Given the description of an element on the screen output the (x, y) to click on. 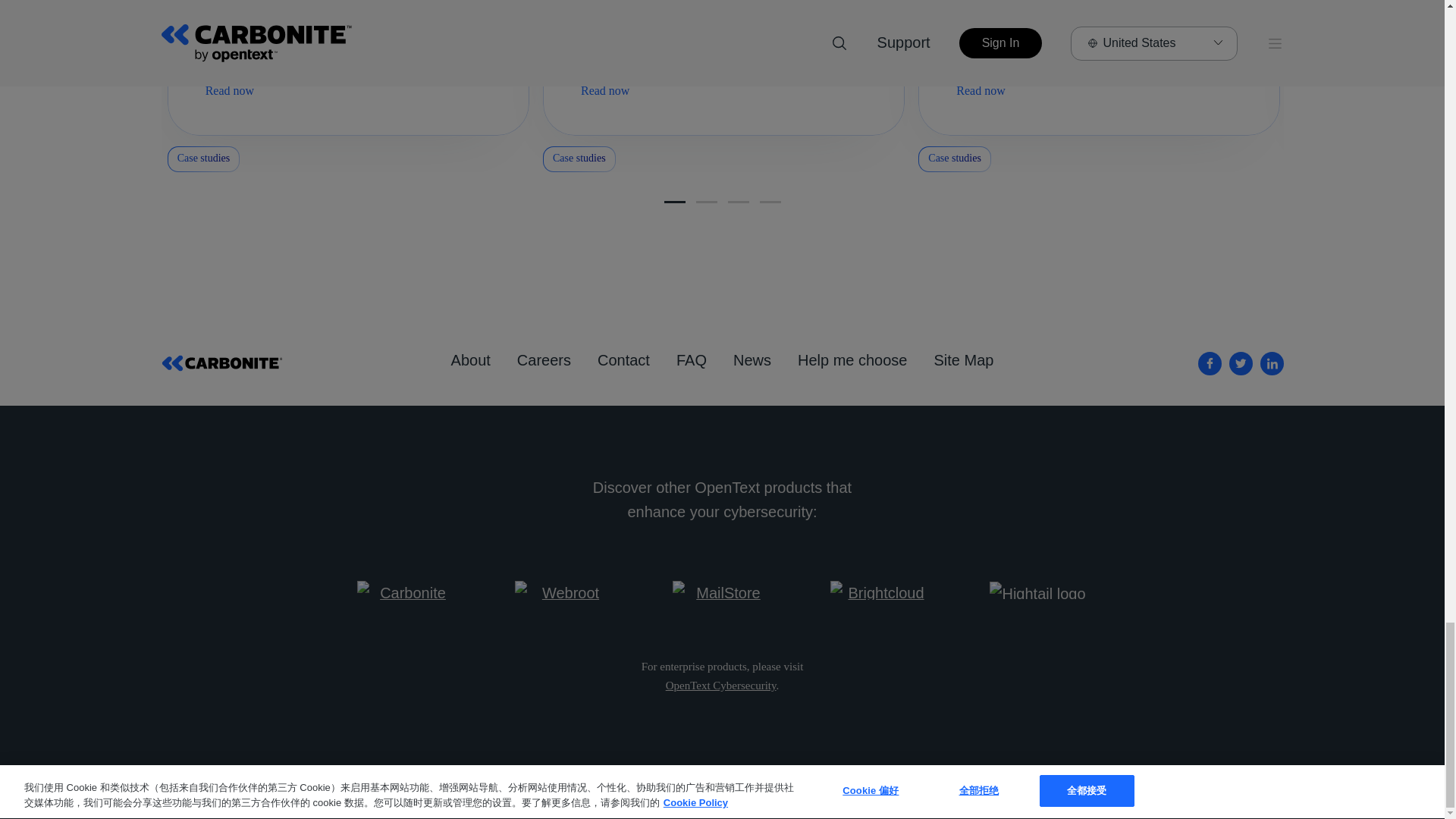
Facebook (1209, 363)
OpenText (720, 685)
Linkedin (1272, 363)
Twitter (1240, 363)
